Given the description of an element on the screen output the (x, y) to click on. 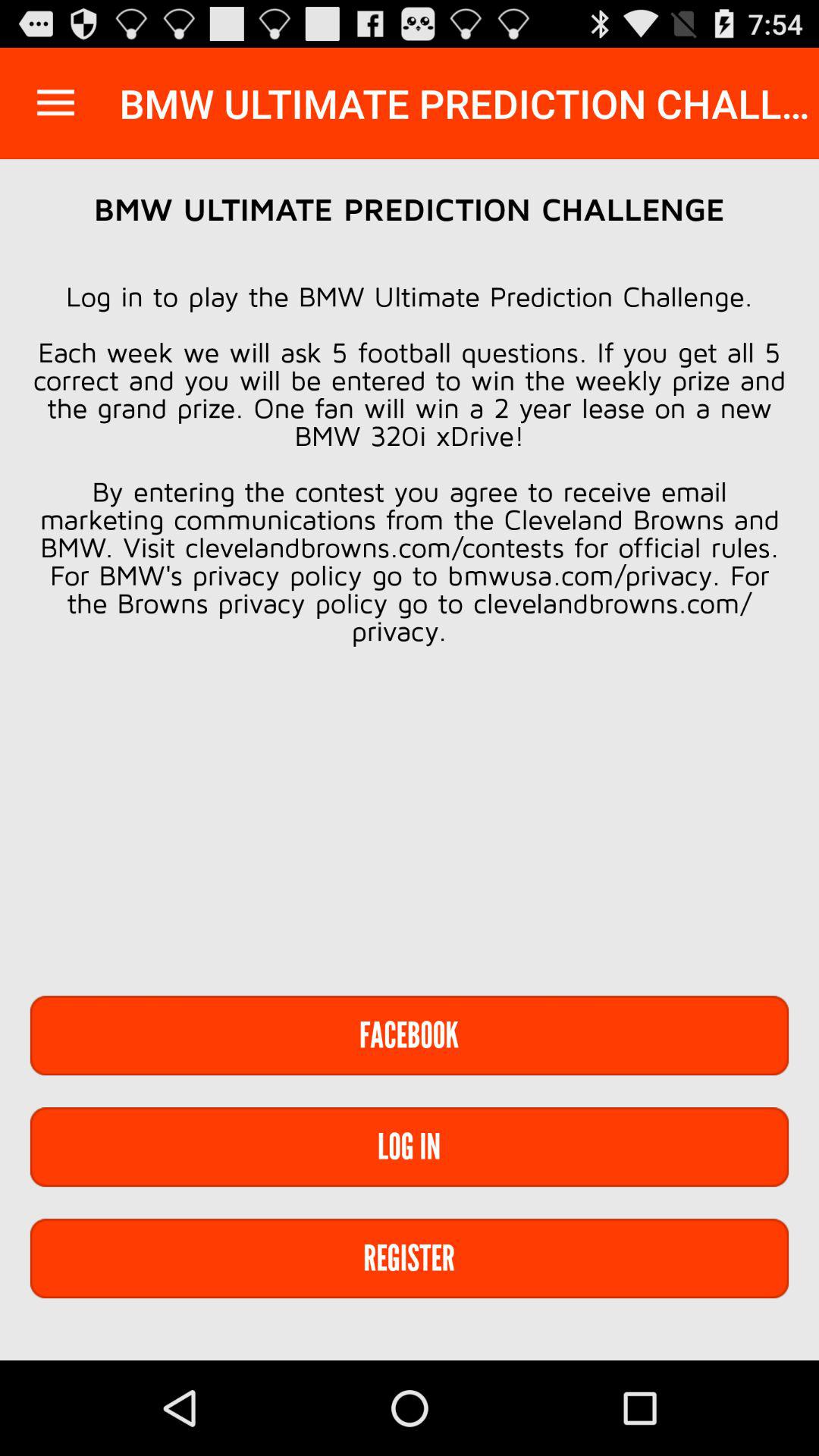
press the app to the left of the bmw ultimate prediction (55, 103)
